Given the description of an element on the screen output the (x, y) to click on. 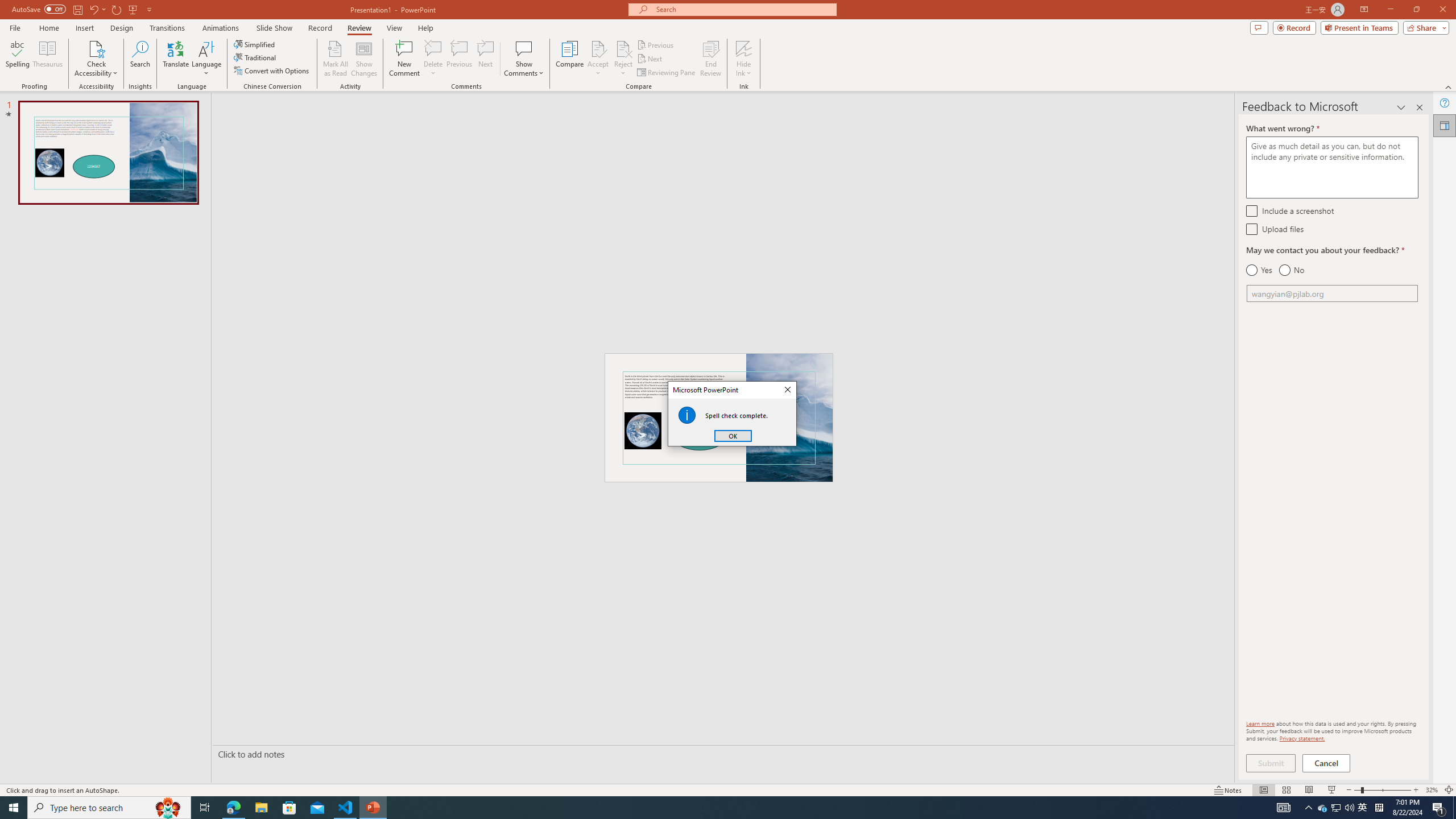
Learn more (1260, 723)
Traditional (255, 56)
Compare (569, 58)
Type here to search (108, 807)
Start (13, 807)
New Comment (403, 58)
Notification Chevron (1308, 807)
Show Changes (363, 58)
